Given the description of an element on the screen output the (x, y) to click on. 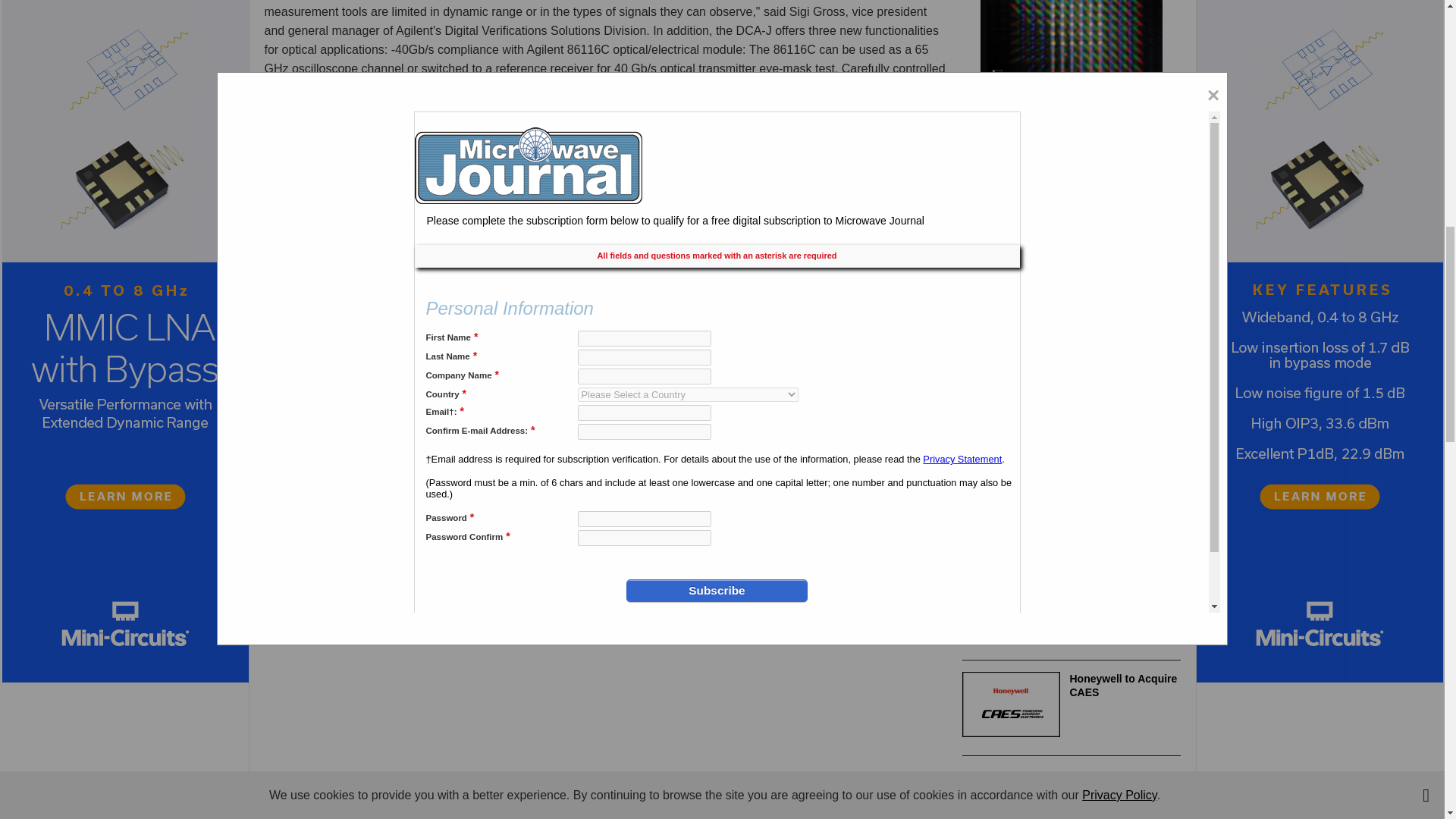
Cross Correlation in Phase Noise Analysis (366, 398)
Go (438, 332)
IMS2024.jpg (1010, 504)
1 (342, 332)
caes-6-20-24.jpg (1010, 704)
3rd party ad content (1075, 796)
IMS2024-Featured.jpg (1010, 608)
